Given the description of an element on the screen output the (x, y) to click on. 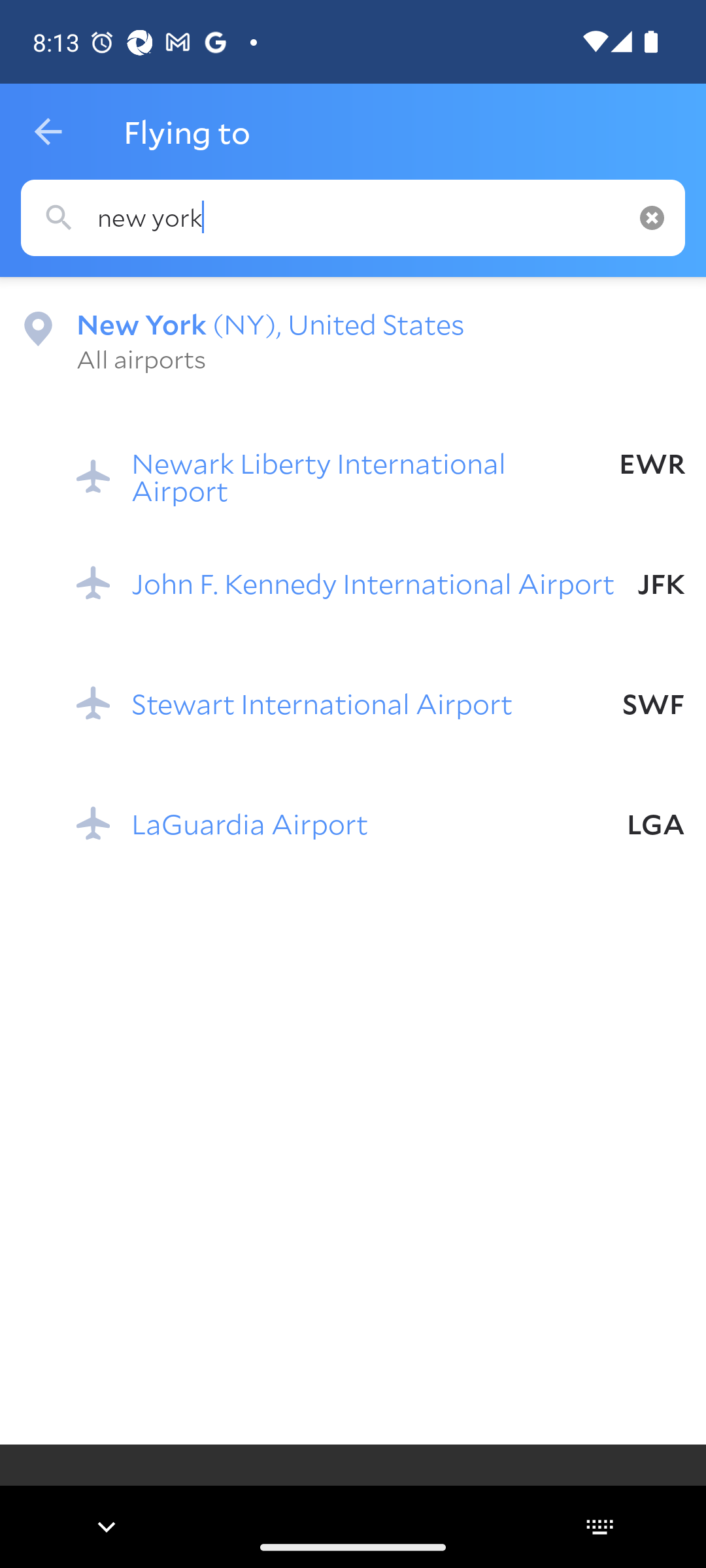
Navigate up (48, 131)
new york (352, 217)
New York (NY), United States All airports (353, 339)
Newark Liberty International Airport EWR (380, 462)
John F. Kennedy International Airport JFK (380, 582)
Stewart International Airport SWF (380, 702)
LaGuardia Airport LGA (380, 822)
